Given the description of an element on the screen output the (x, y) to click on. 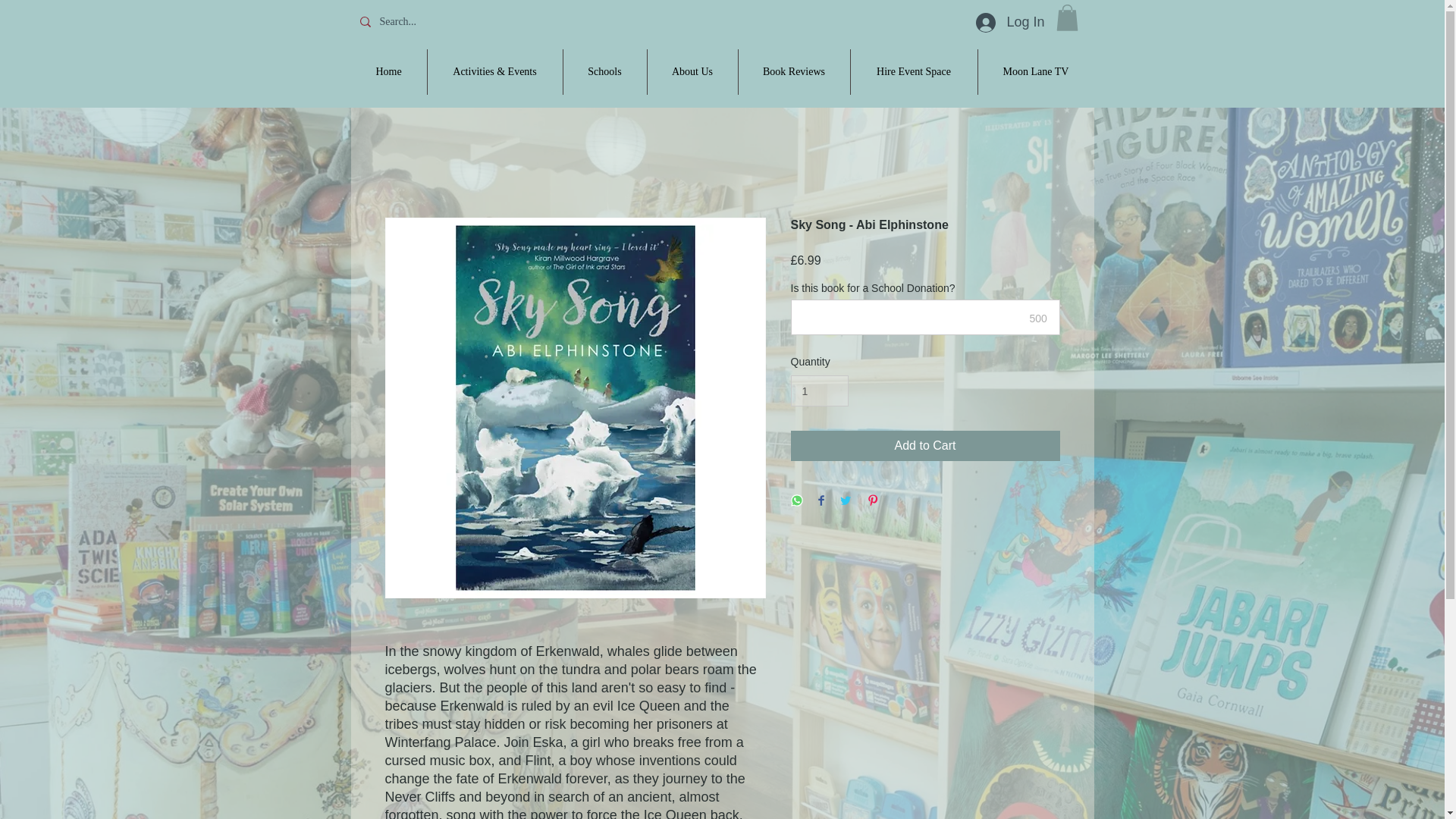
Moon Lane TV (1036, 72)
Hire Event Space (913, 72)
About Us (692, 72)
1 (818, 390)
Add to Cart (924, 445)
Home (388, 72)
Schools (604, 72)
Book Reviews (794, 72)
Log In (1009, 22)
